Given the description of an element on the screen output the (x, y) to click on. 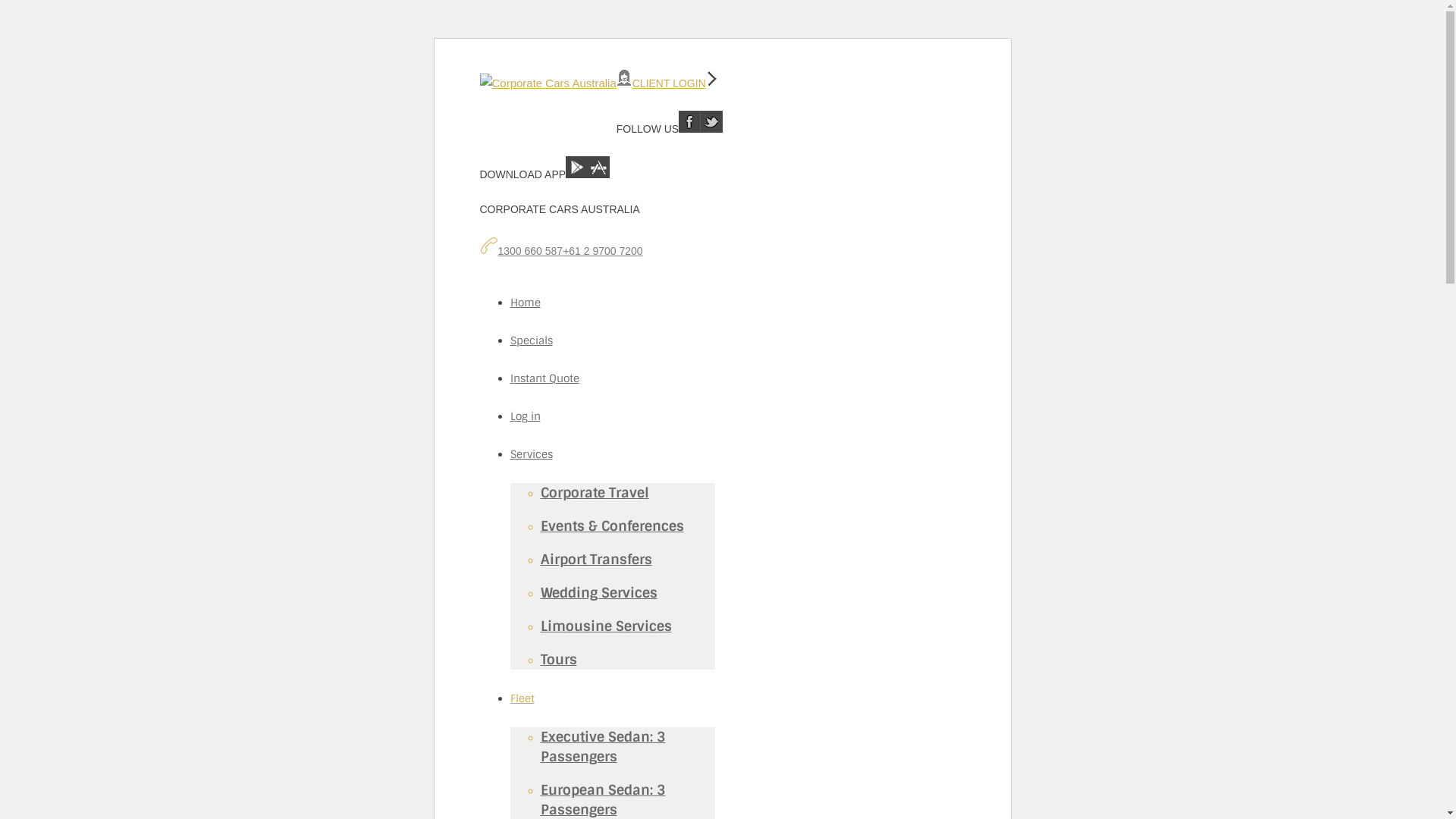
Tours Element type: text (557, 659)
Limousine Services Element type: text (605, 626)
Specials Element type: text (530, 340)
Fleet Element type: text (521, 698)
Wedding Services Element type: text (597, 592)
Services Element type: text (530, 454)
CLIENT LOGIN Element type: text (669, 83)
Corporate Travel Element type: text (593, 492)
Log in Element type: text (524, 416)
Home Element type: text (524, 302)
Instant Quote Element type: text (543, 378)
1300 660 587 Element type: text (529, 250)
Airport Transfers Element type: text (595, 559)
+61 2 9700 7200 Element type: text (602, 250)
Executive Sedan: 3 Passengers Element type: text (602, 746)
Events & Conferences Element type: text (611, 526)
